Given the description of an element on the screen output the (x, y) to click on. 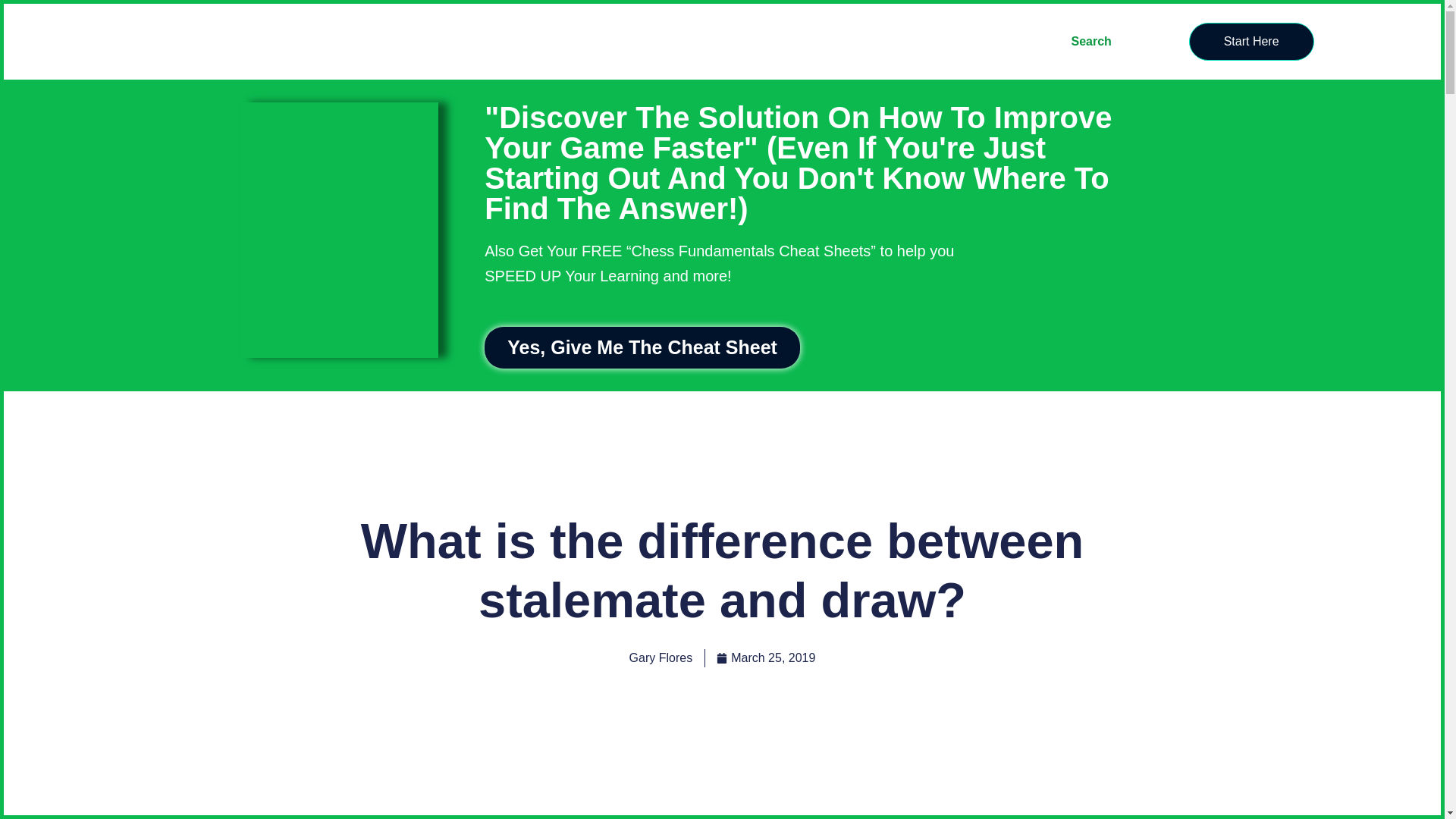
Gary Flores (660, 658)
Yes, Give Me The Cheat Sheet (641, 347)
Start Here (1251, 41)
Skip to content (15, 7)
March 25, 2019 (765, 658)
Search (1090, 41)
